Given the description of an element on the screen output the (x, y) to click on. 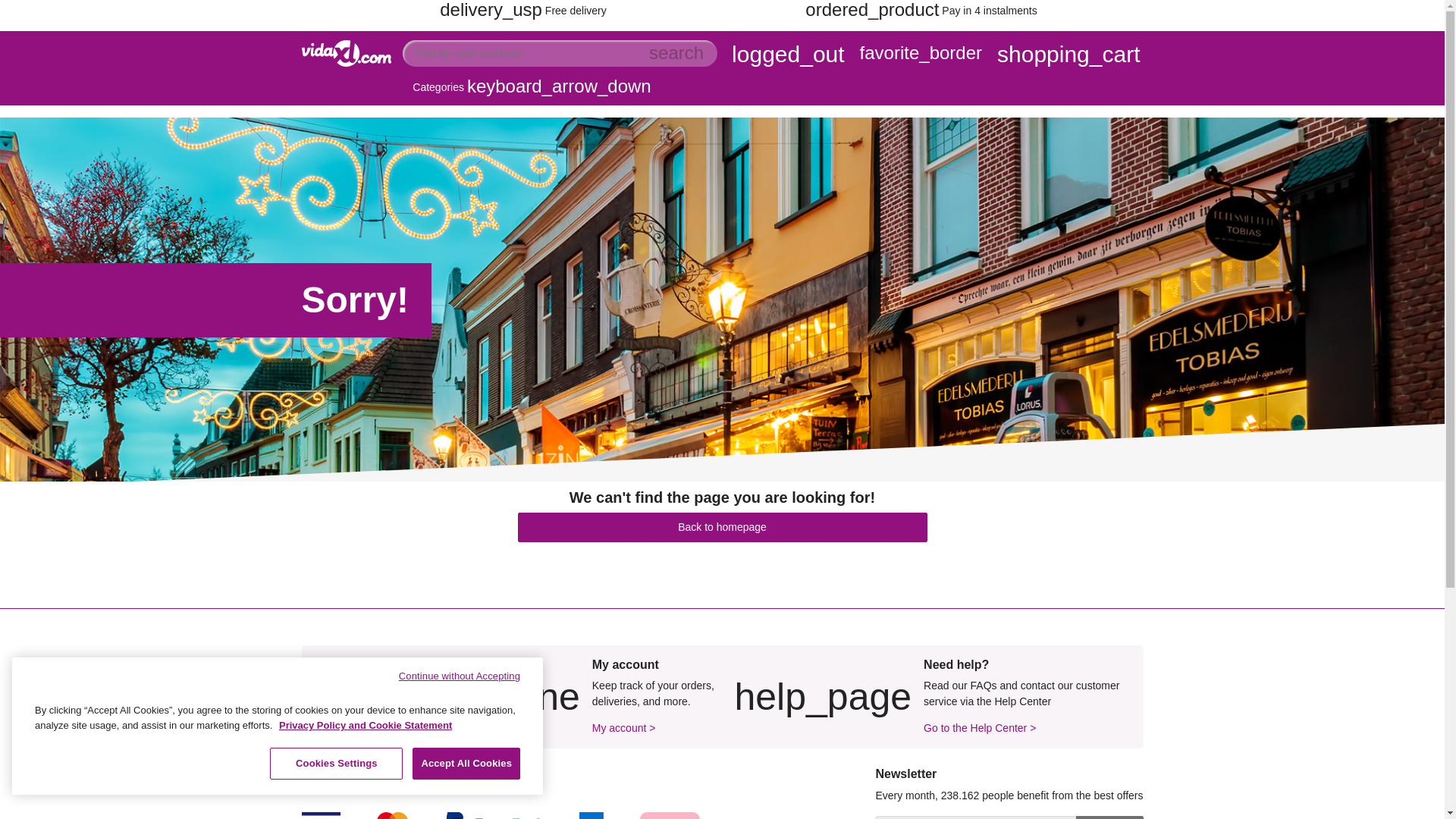
search (676, 53)
Cart 0 Items (1068, 55)
vidaXL Home (346, 71)
